Given the description of an element on the screen output the (x, y) to click on. 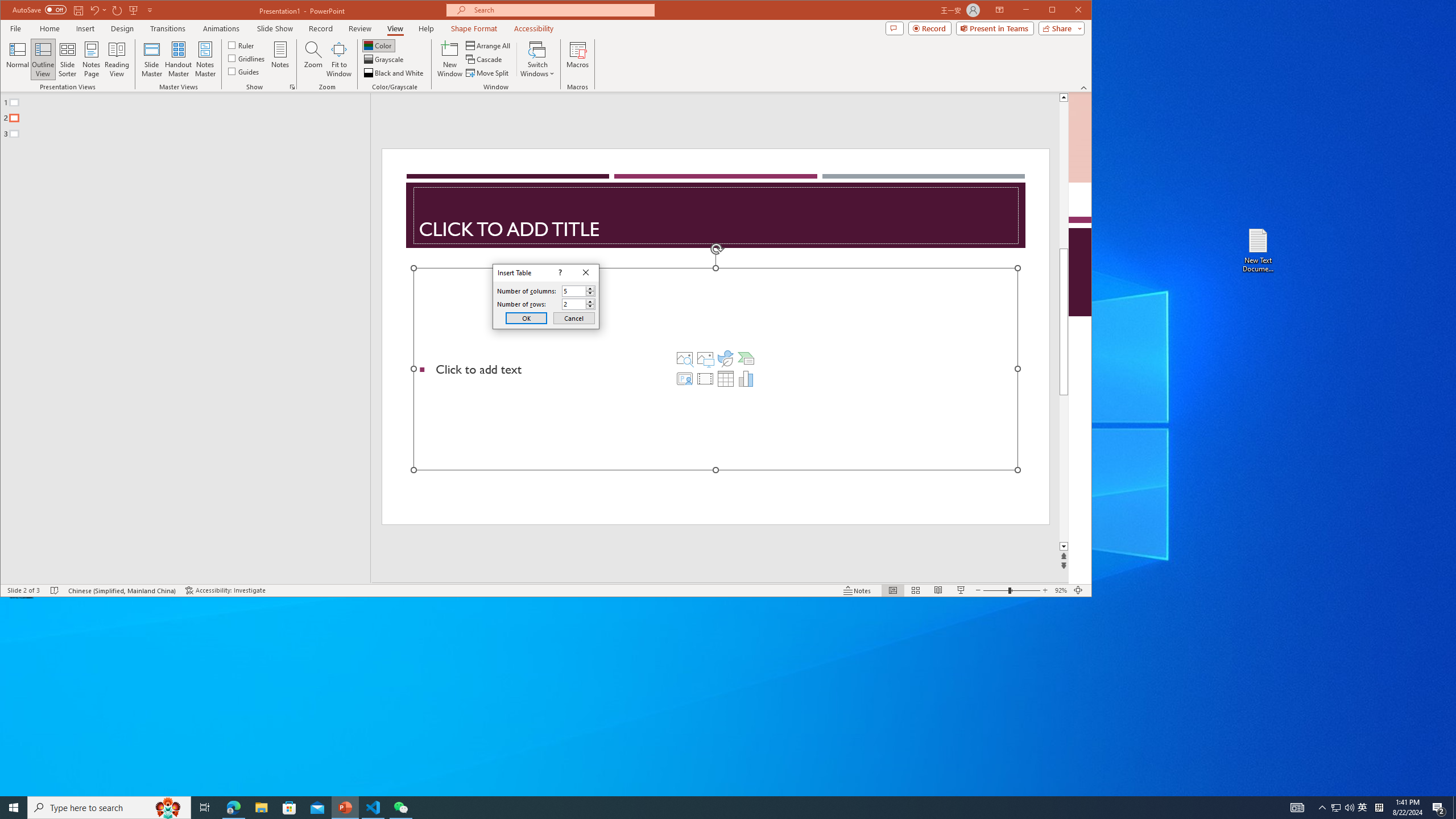
Notes Page (91, 59)
Cascade (484, 59)
Number of rows (573, 303)
Insert Video (704, 378)
